Given the description of an element on the screen output the (x, y) to click on. 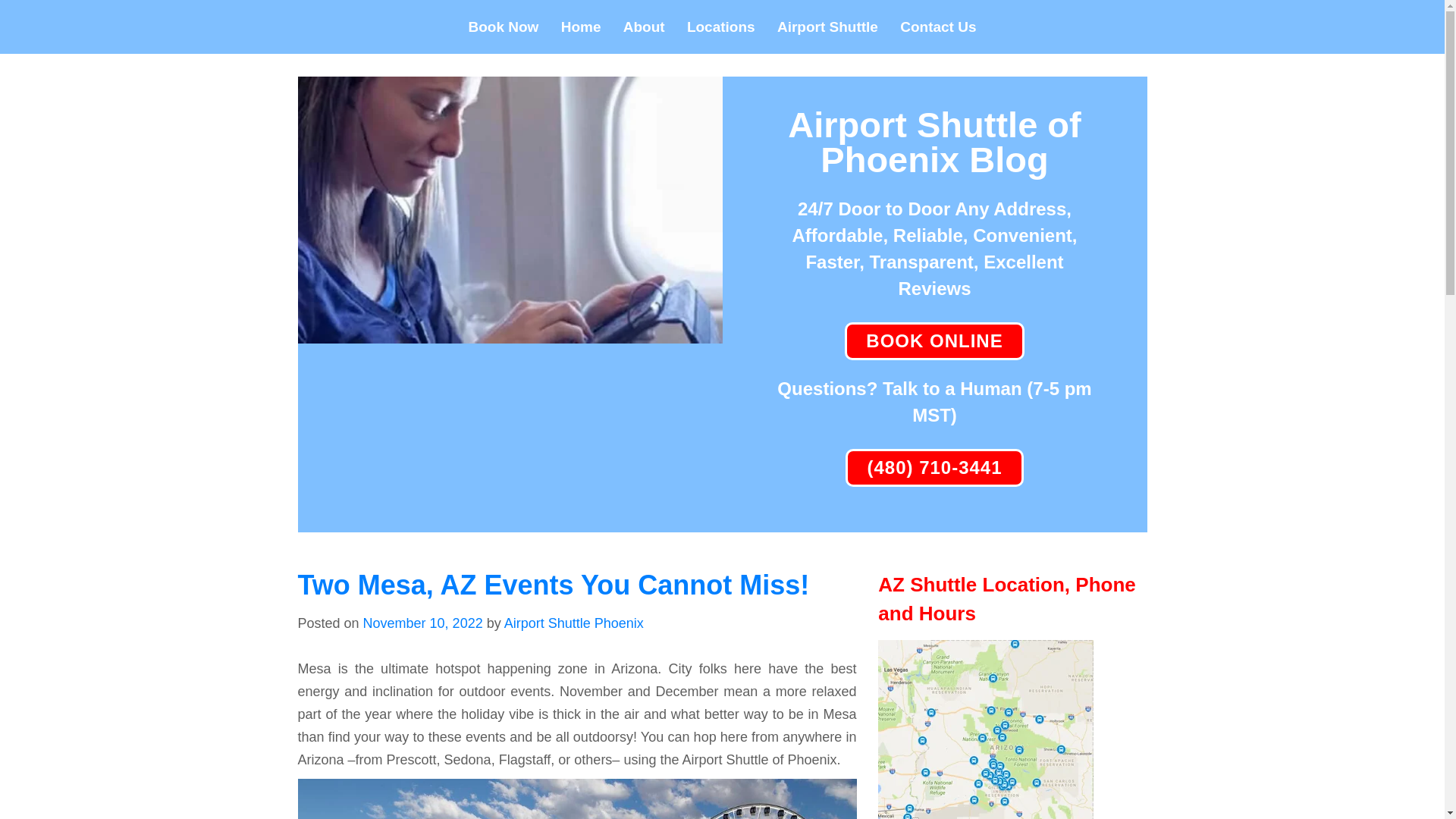
November 10, 2022 (422, 622)
Airport Shuttle Phoenix Book Online (509, 331)
Airport Shuttle Phoenix (573, 622)
Airport Shuttle of Phoenix PHX Map (985, 729)
Author Name (573, 622)
Locations (721, 27)
Airport Shuttle (827, 27)
BOOK ONLINE (933, 340)
Airport Shuttle Phoenix Phone Number (934, 467)
About (643, 27)
Book Now (503, 27)
Book Airport Shuttle Online (933, 340)
Contact Us (937, 27)
Home (580, 27)
Article Date (422, 622)
